Given the description of an element on the screen output the (x, y) to click on. 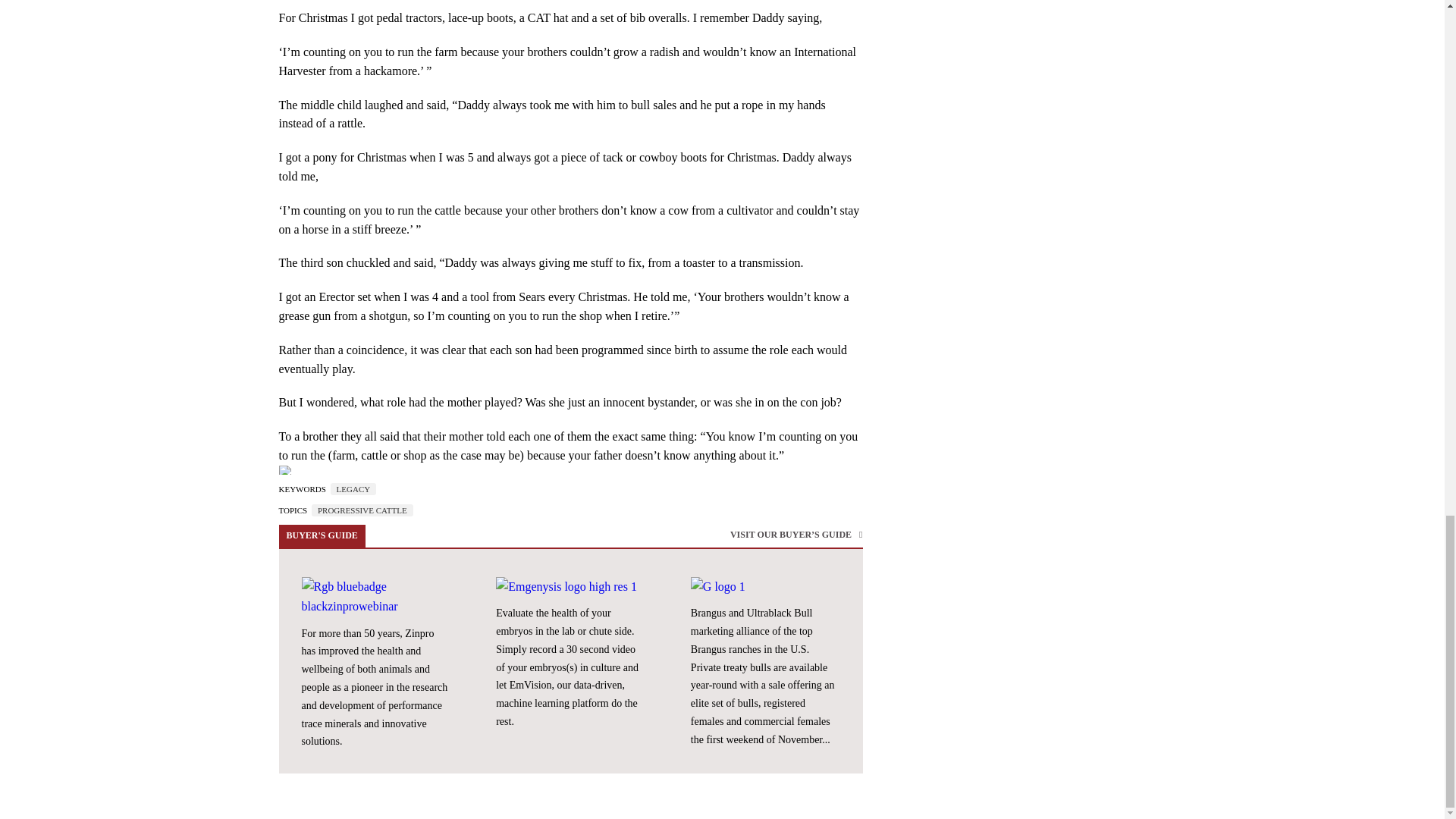
LEGACY (353, 489)
PROGRESSIVE CATTLE (362, 510)
